Given the description of an element on the screen output the (x, y) to click on. 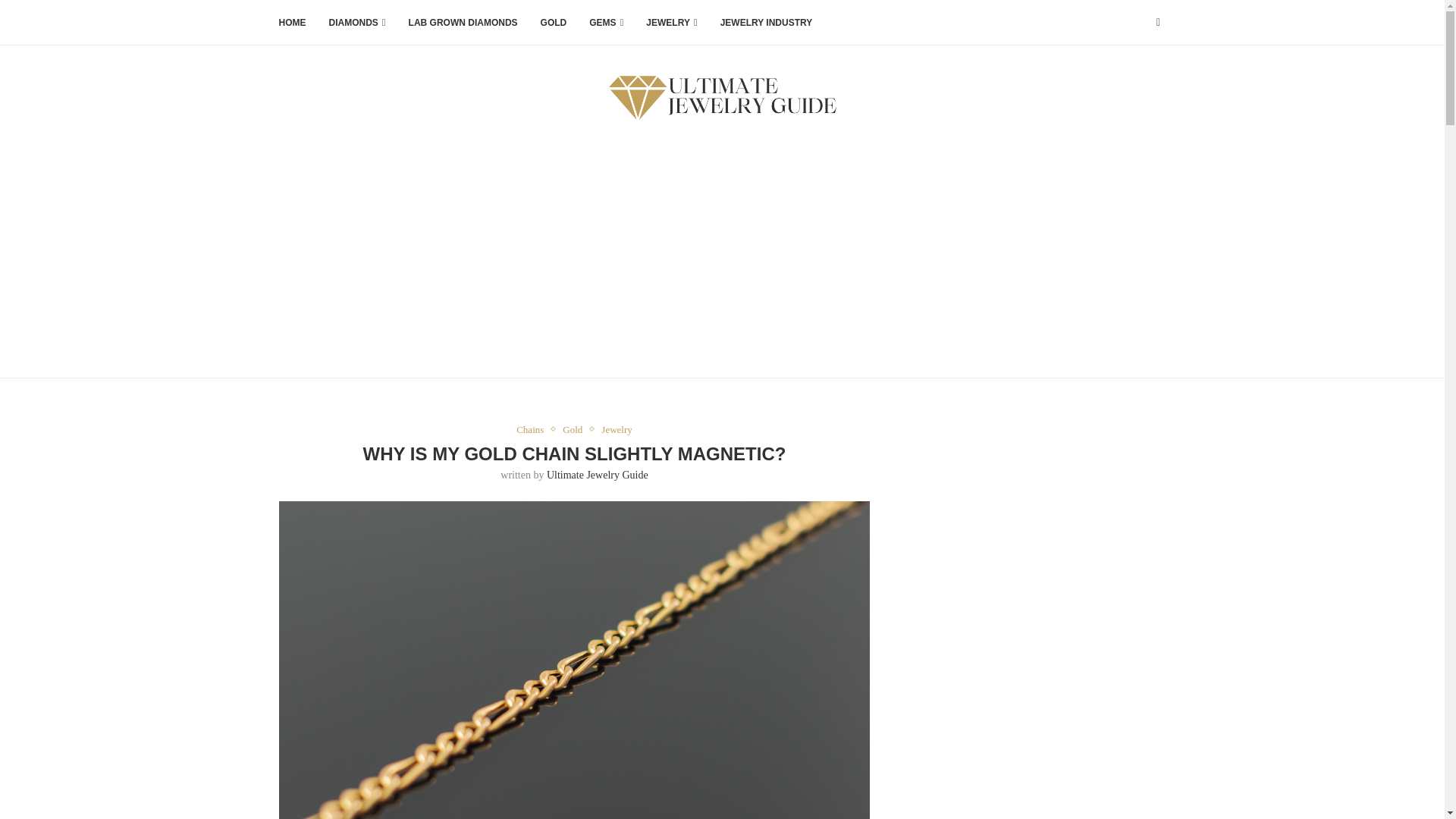
LAB GROWN DIAMONDS (463, 22)
DIAMONDS (357, 22)
